Given the description of an element on the screen output the (x, y) to click on. 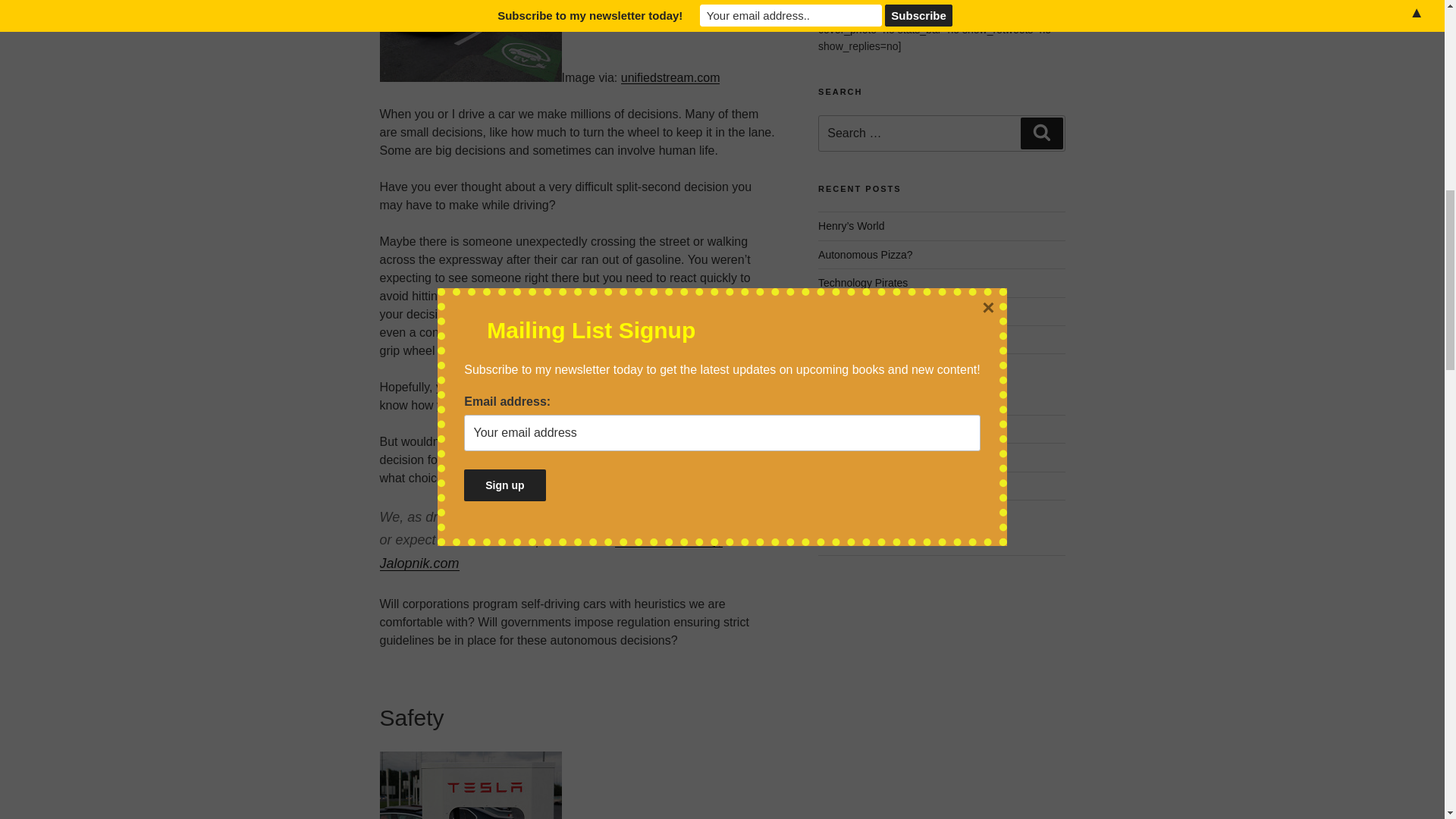
Autonomous Pizza? (865, 254)
Search (1041, 133)
Jason Torchinsky, Jalopnik.com (550, 551)
unifiedstream.com (670, 77)
